Given the description of an element on the screen output the (x, y) to click on. 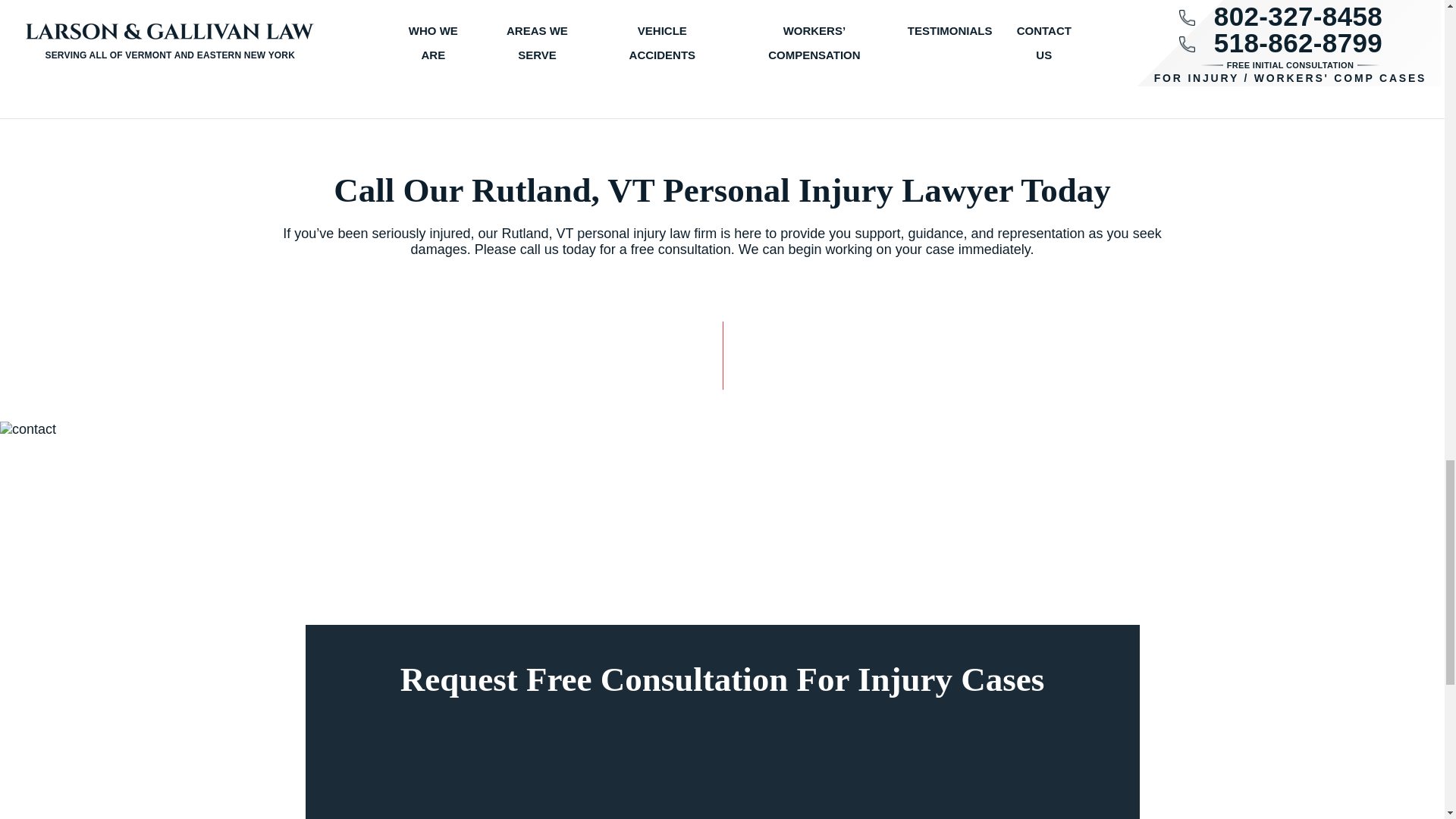
Contact Form (721, 766)
Share on LinkedIn (854, 8)
Share on Facebook (787, 8)
Share on Twitter (821, 8)
